Given the description of an element on the screen output the (x, y) to click on. 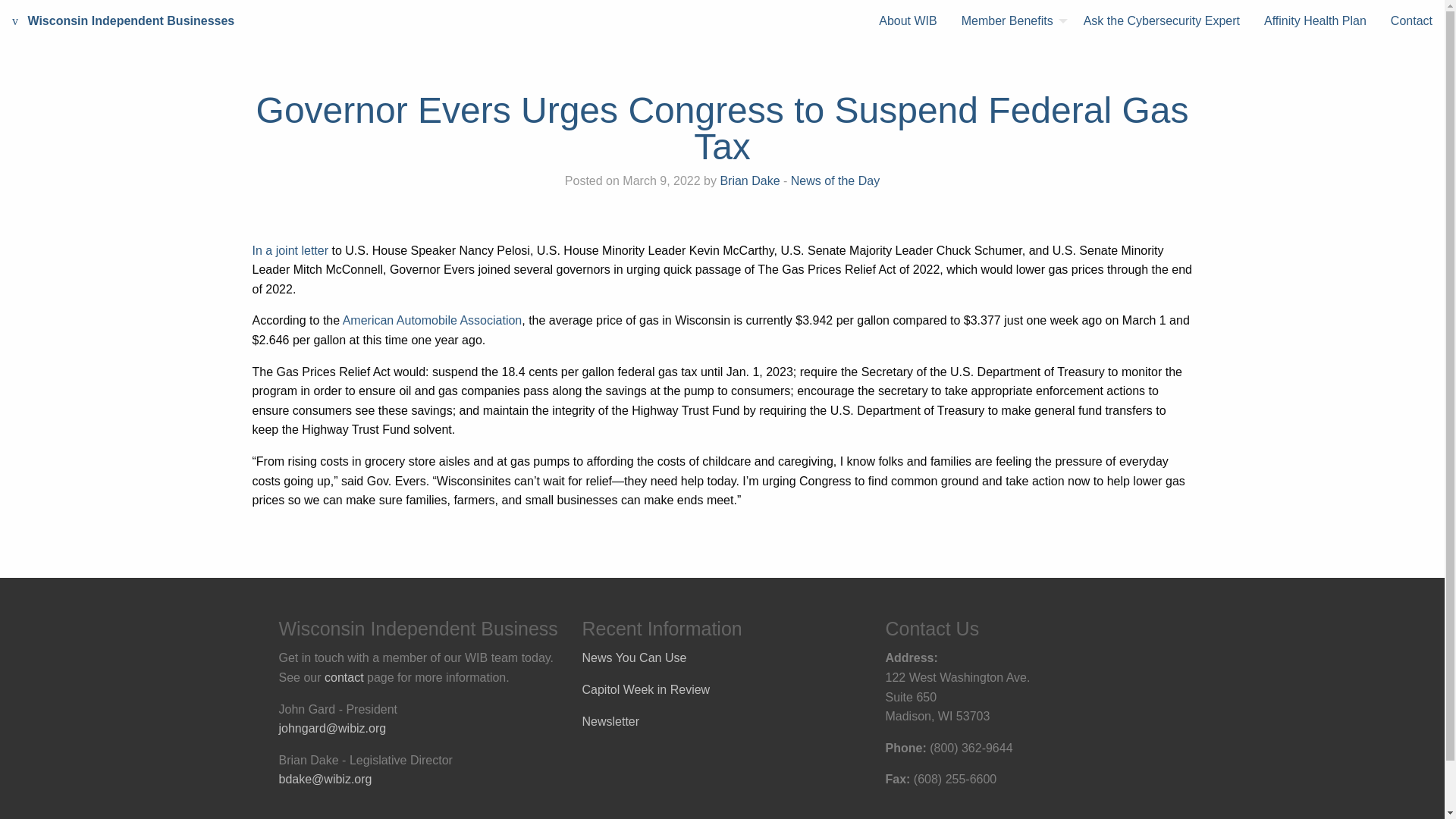
Brian Dake (748, 180)
Ask the Cybersecurity Expert (1161, 21)
Posts by Brian Dake (748, 180)
contact (344, 676)
News You Can Use (634, 657)
Affinity Health Plan (1315, 21)
Member Benefits (1010, 21)
About WIB (907, 21)
News of the Day (834, 180)
Capitol Week in Review (646, 689)
